Given the description of an element on the screen output the (x, y) to click on. 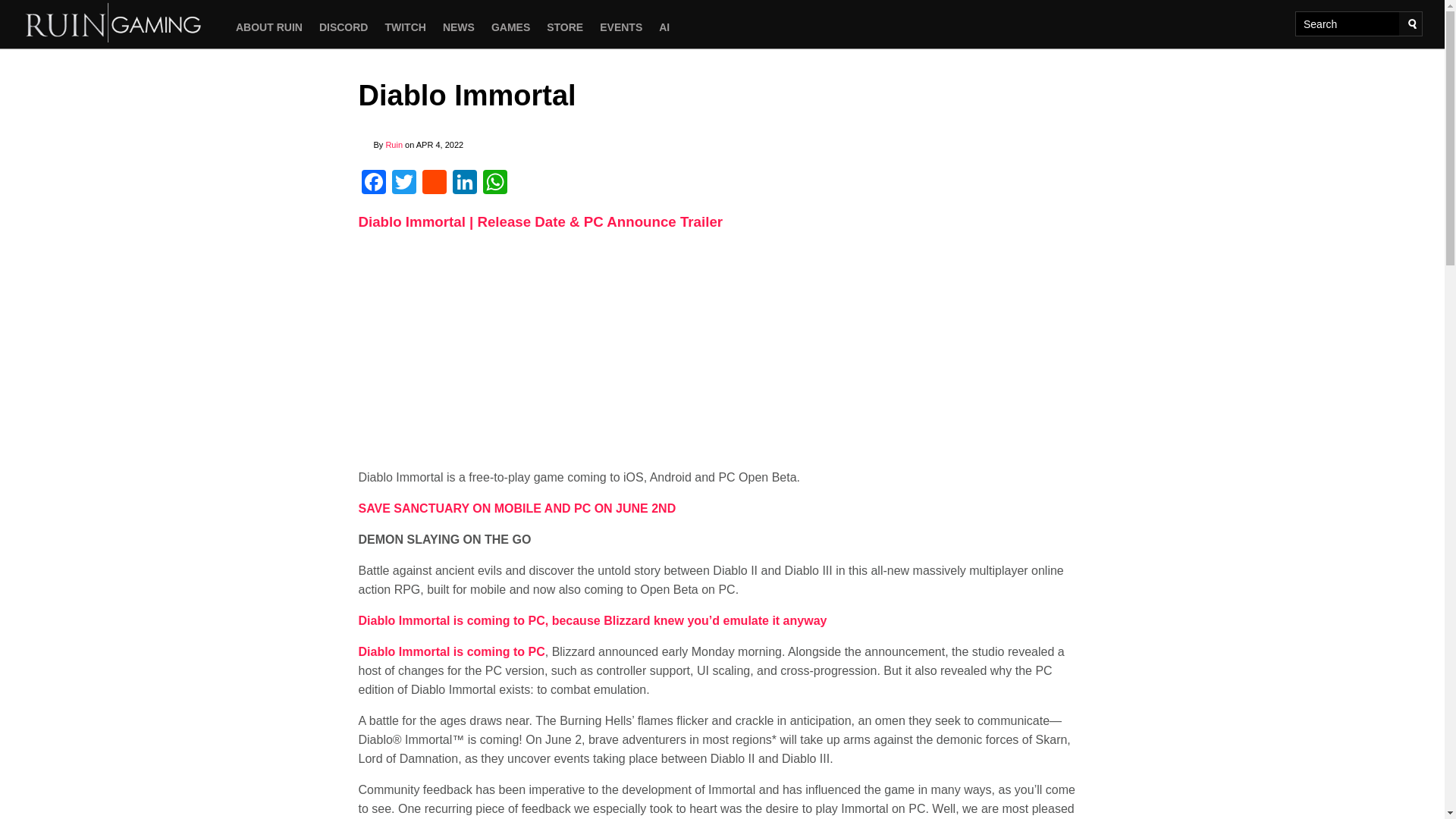
STORE (564, 26)
DISCORD (344, 26)
Search (1412, 24)
Twitter (403, 183)
WhatsApp (494, 183)
EVENTS (620, 26)
GAMES (510, 26)
ABOUT RUIN (269, 26)
WhatsApp (494, 183)
AI (664, 26)
